Given the description of an element on the screen output the (x, y) to click on. 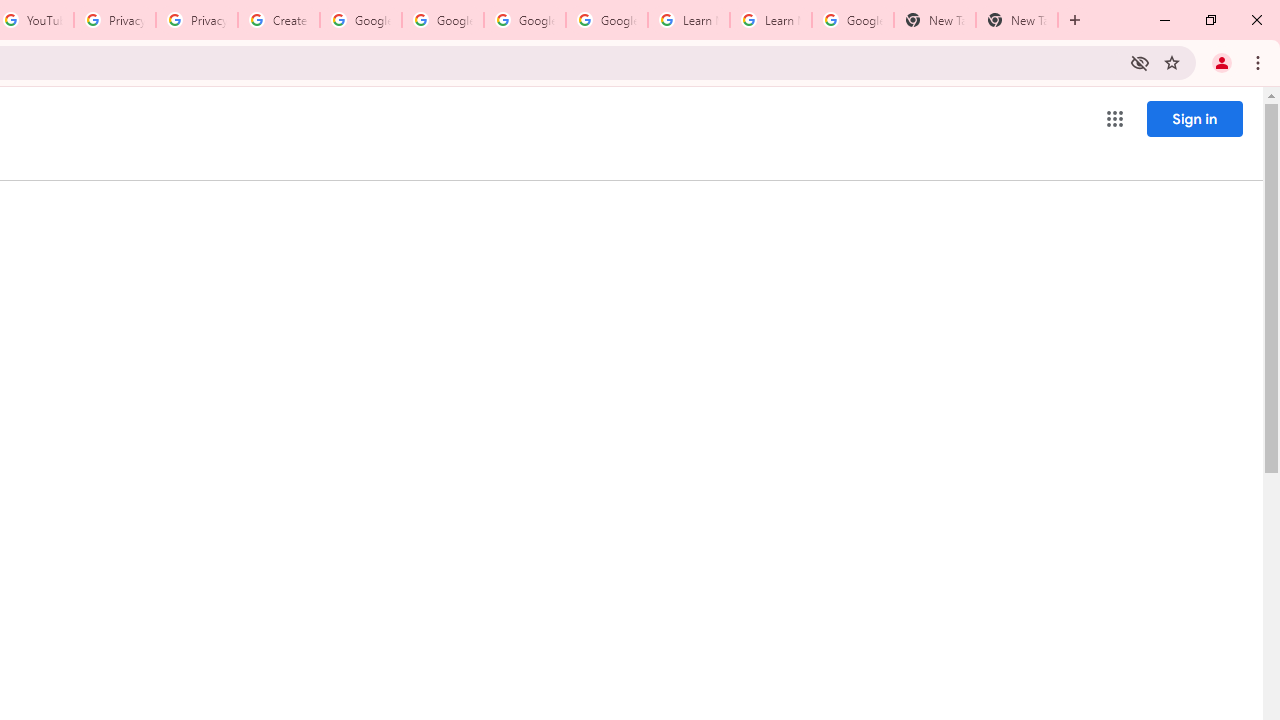
Google Account Help (524, 20)
Google Account Help (442, 20)
New Tab (934, 20)
New Tab (1016, 20)
